Given the description of an element on the screen output the (x, y) to click on. 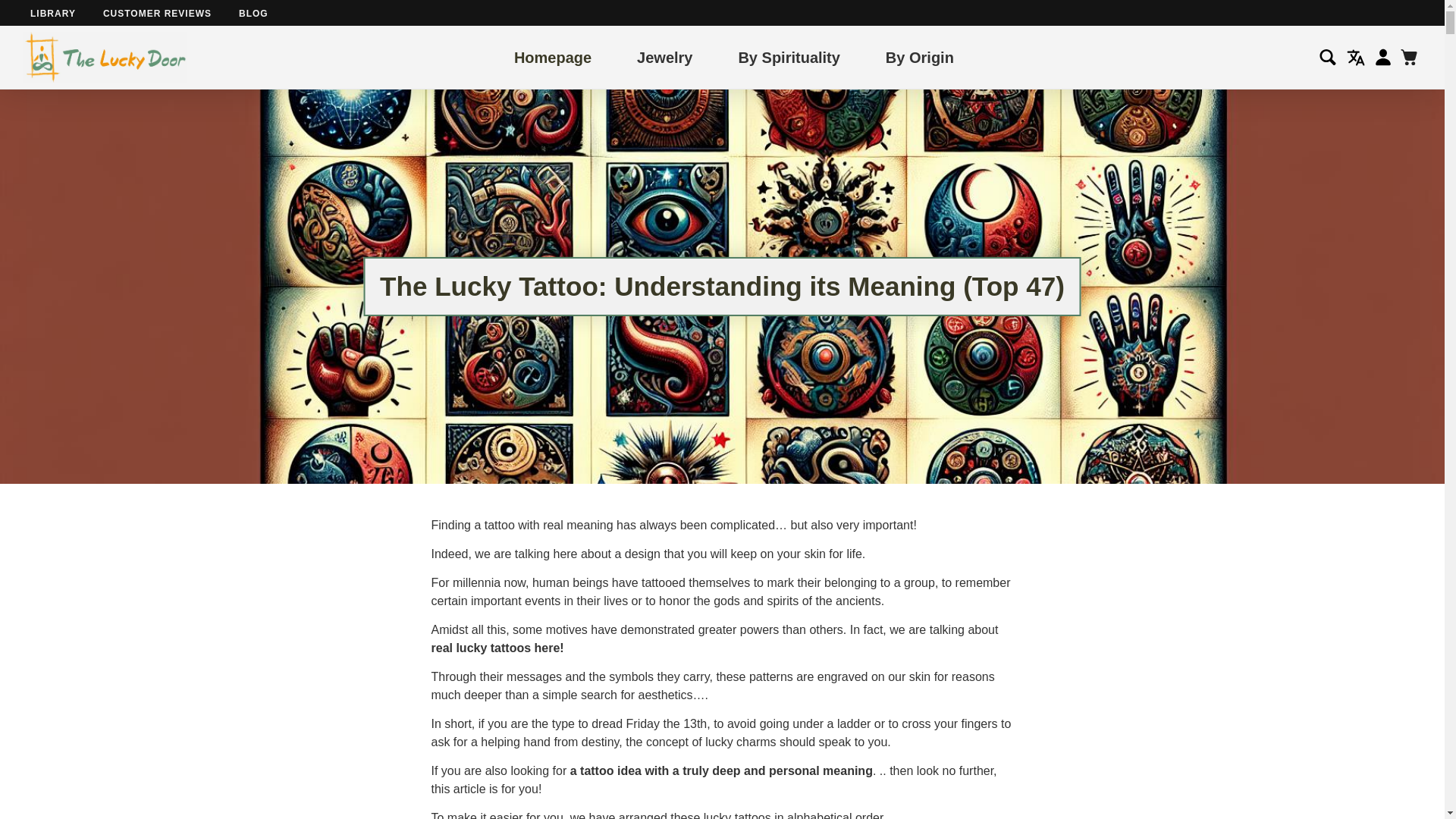
Jewelry (664, 56)
By Origin (918, 56)
By Spirituality (788, 56)
LIBRARY (52, 13)
Homepage (552, 56)
BLOG (252, 13)
CUSTOMER REVIEWS (157, 13)
Homepage (552, 56)
